Given the description of an element on the screen output the (x, y) to click on. 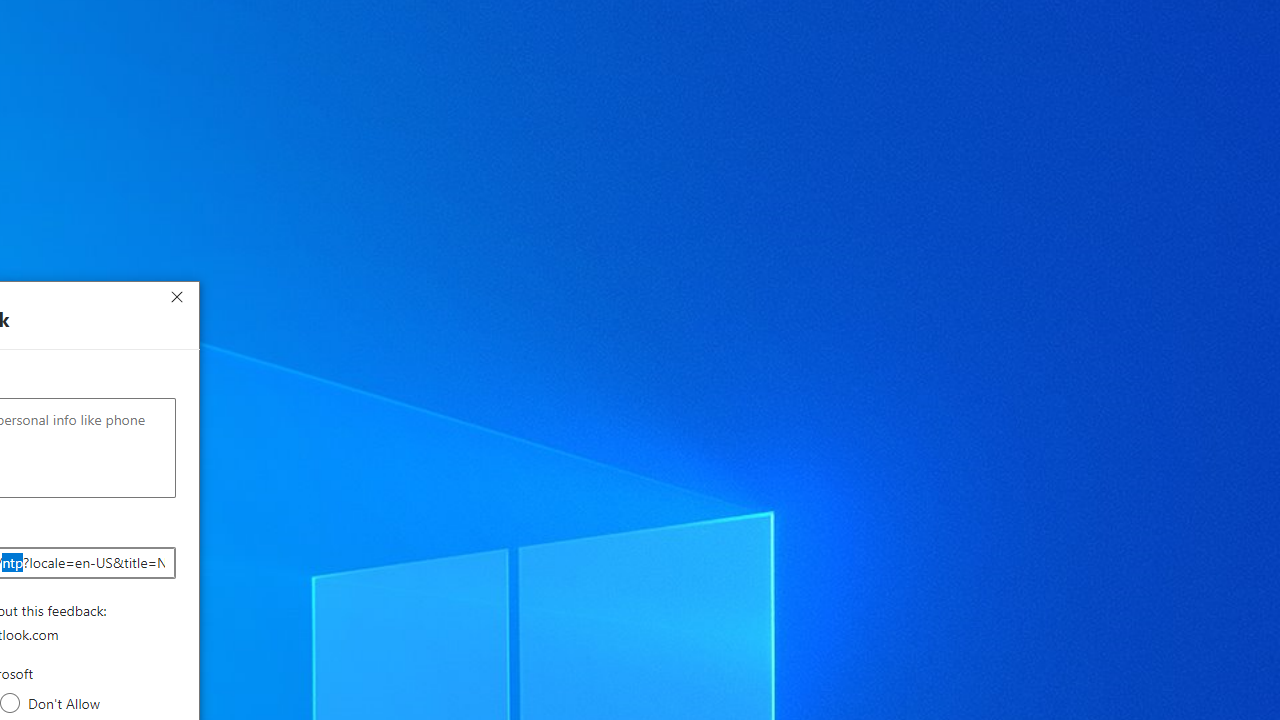
Don't Allow (10, 703)
